Given the description of an element on the screen output the (x, y) to click on. 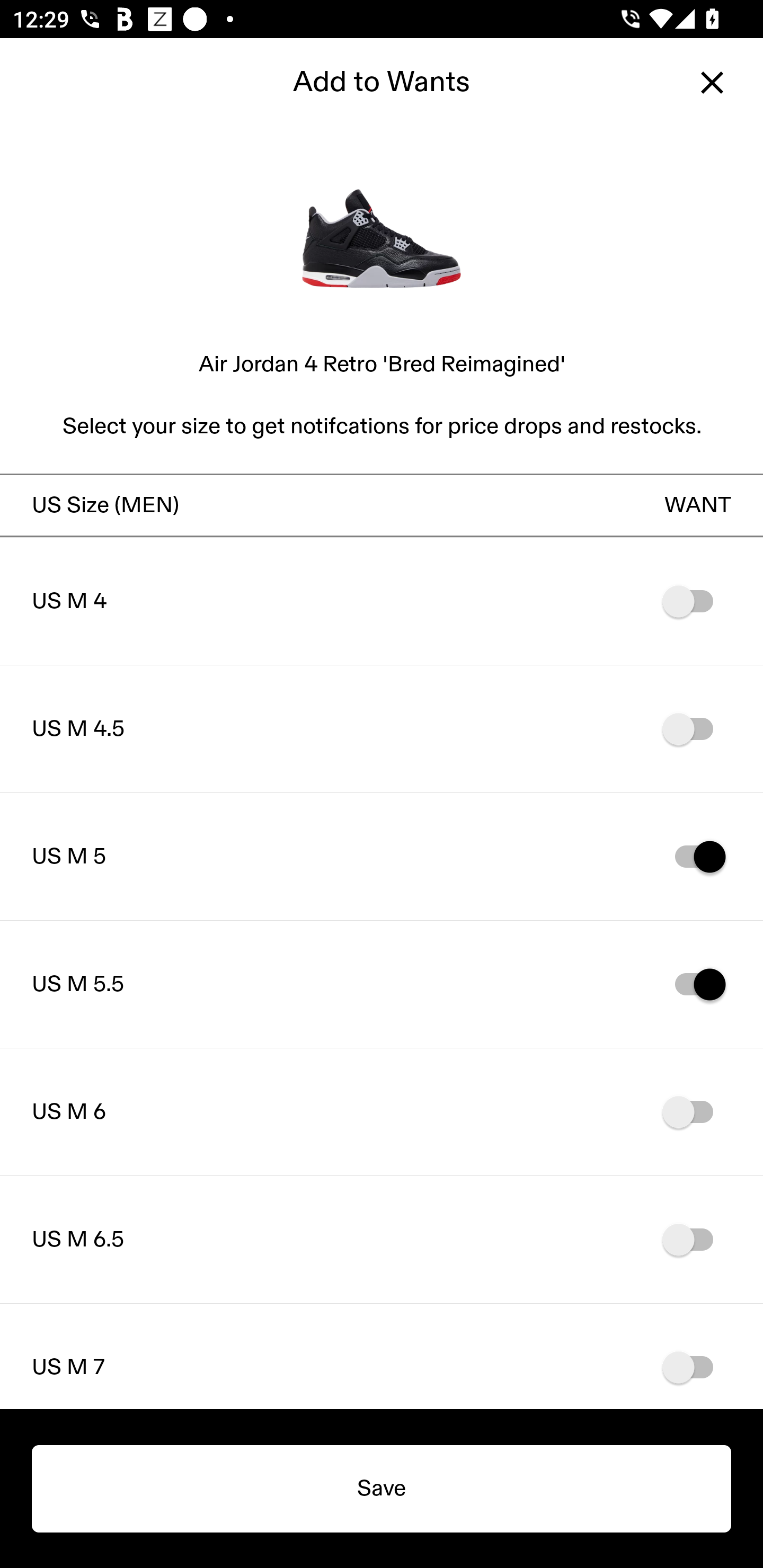
Save (381, 1488)
